Given the description of an element on the screen output the (x, y) to click on. 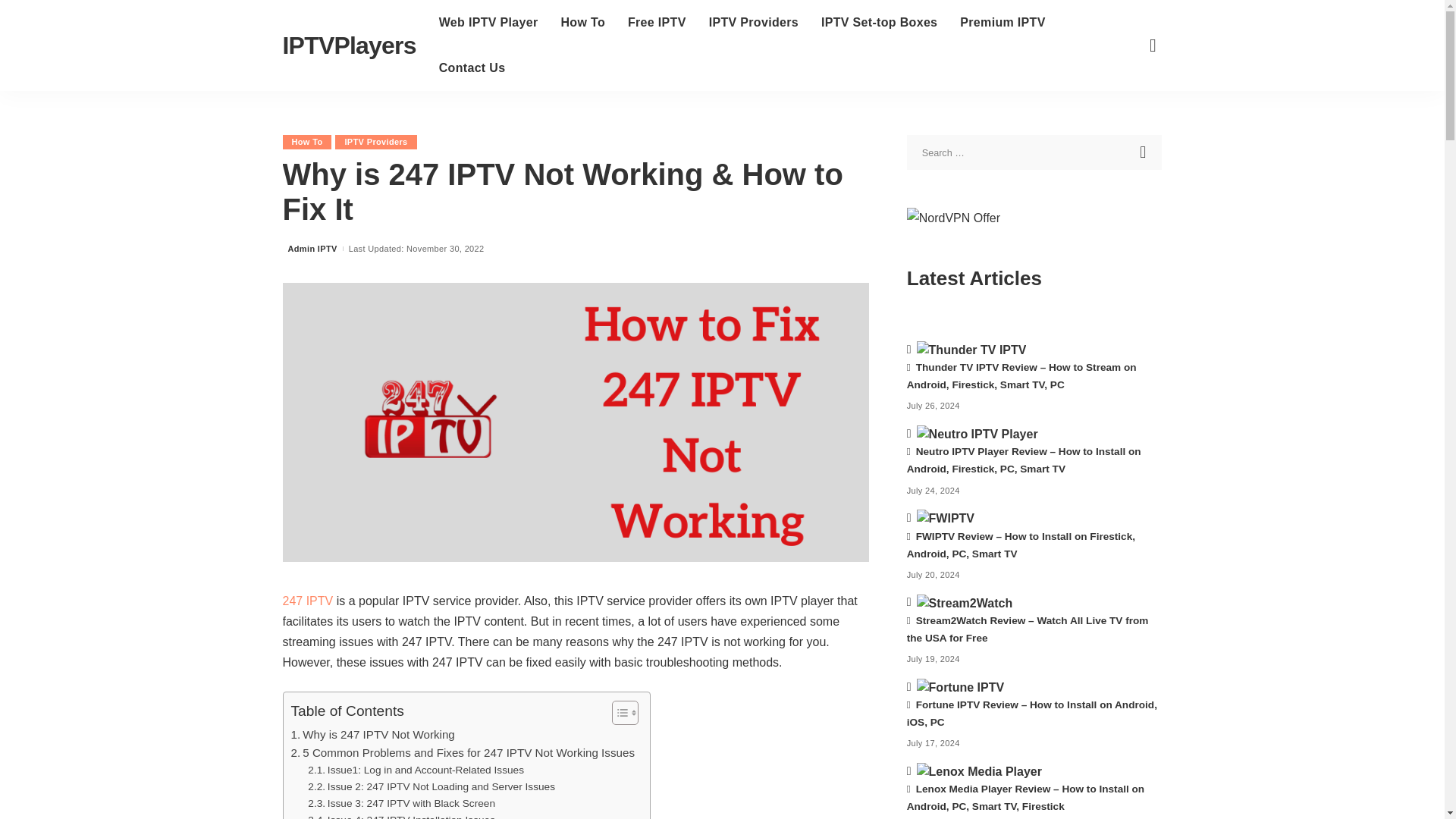
Issue 2: 247 IPTV Not Loading and Server Issues (430, 786)
IPTV Set-top Boxes (879, 22)
Contact Us (472, 67)
IPTVPlayers (348, 44)
Issue1: Log in and Account-Related Issues (415, 770)
How To (306, 142)
Admin IPTV (312, 248)
Search (1143, 152)
Web IPTV Player (489, 22)
Issue 2: 247 IPTV Not Loading and Server Issues (430, 786)
Why is 247 IPTV Not Working (372, 734)
IPTV Providers (375, 142)
IPTV Providers (753, 22)
How To (581, 22)
Issue 4: 247 IPTV Installation Issues (401, 815)
